Given the description of an element on the screen output the (x, y) to click on. 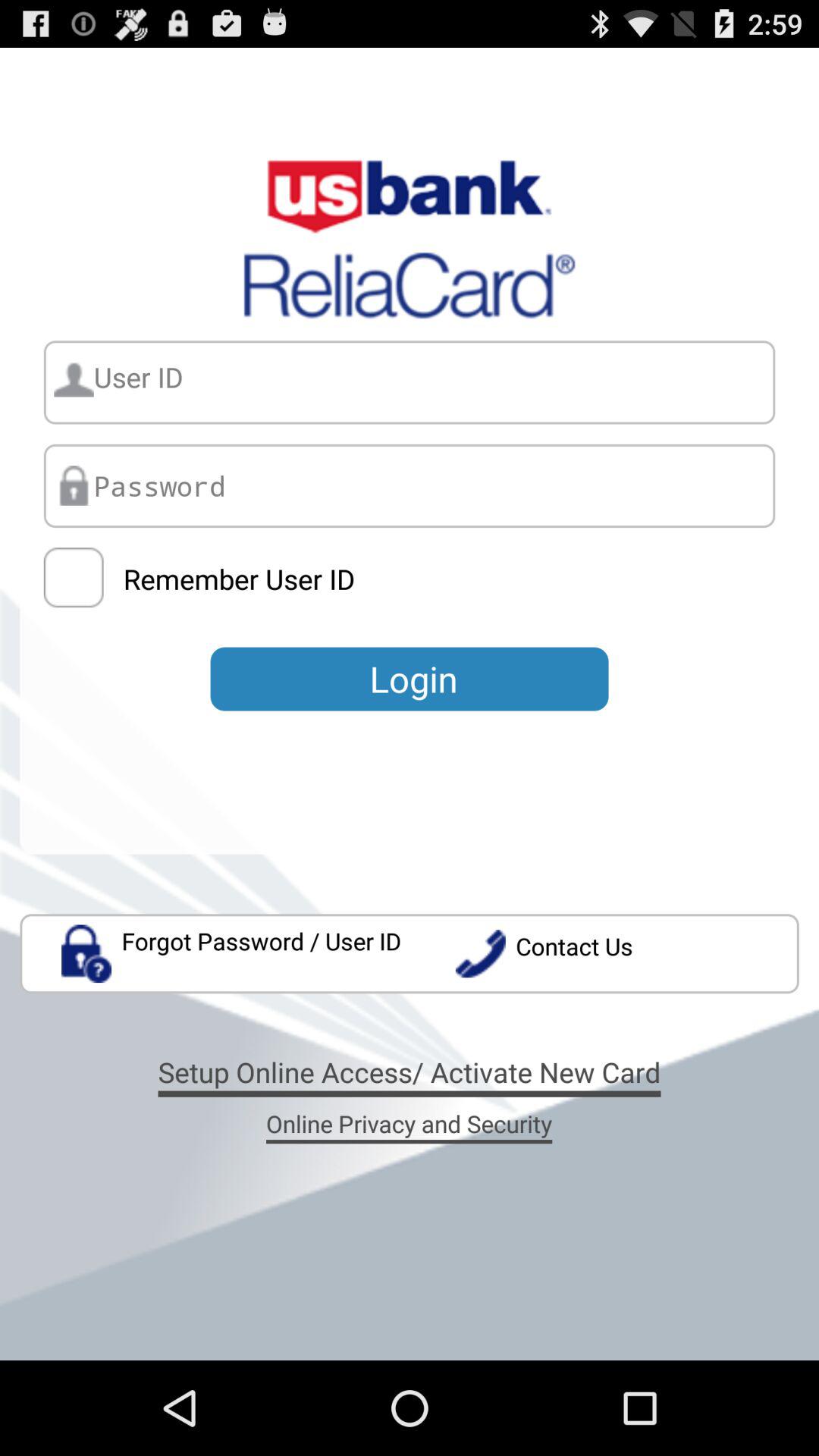
click the contact us app (626, 953)
